Given the description of an element on the screen output the (x, y) to click on. 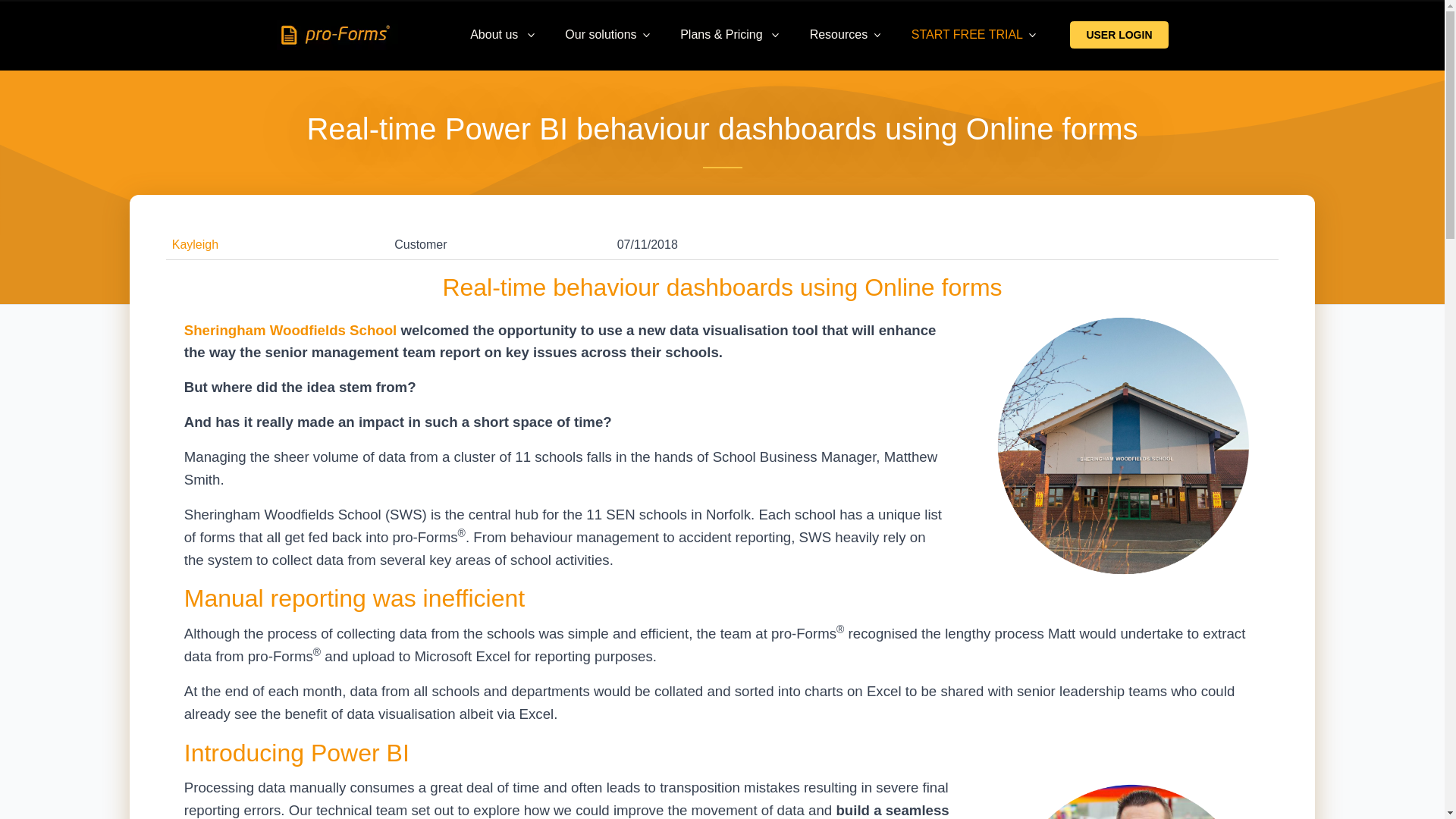
Login to your Work Group (1118, 34)
Click for pro-Forms Homepage (336, 34)
About us (502, 35)
USER LOGIN (1118, 34)
Resources (845, 35)
START FREE TRIAL (974, 35)
Kayleigh (194, 244)
Sheringham Woodfields School (290, 330)
Our solutions (607, 35)
